Given the description of an element on the screen output the (x, y) to click on. 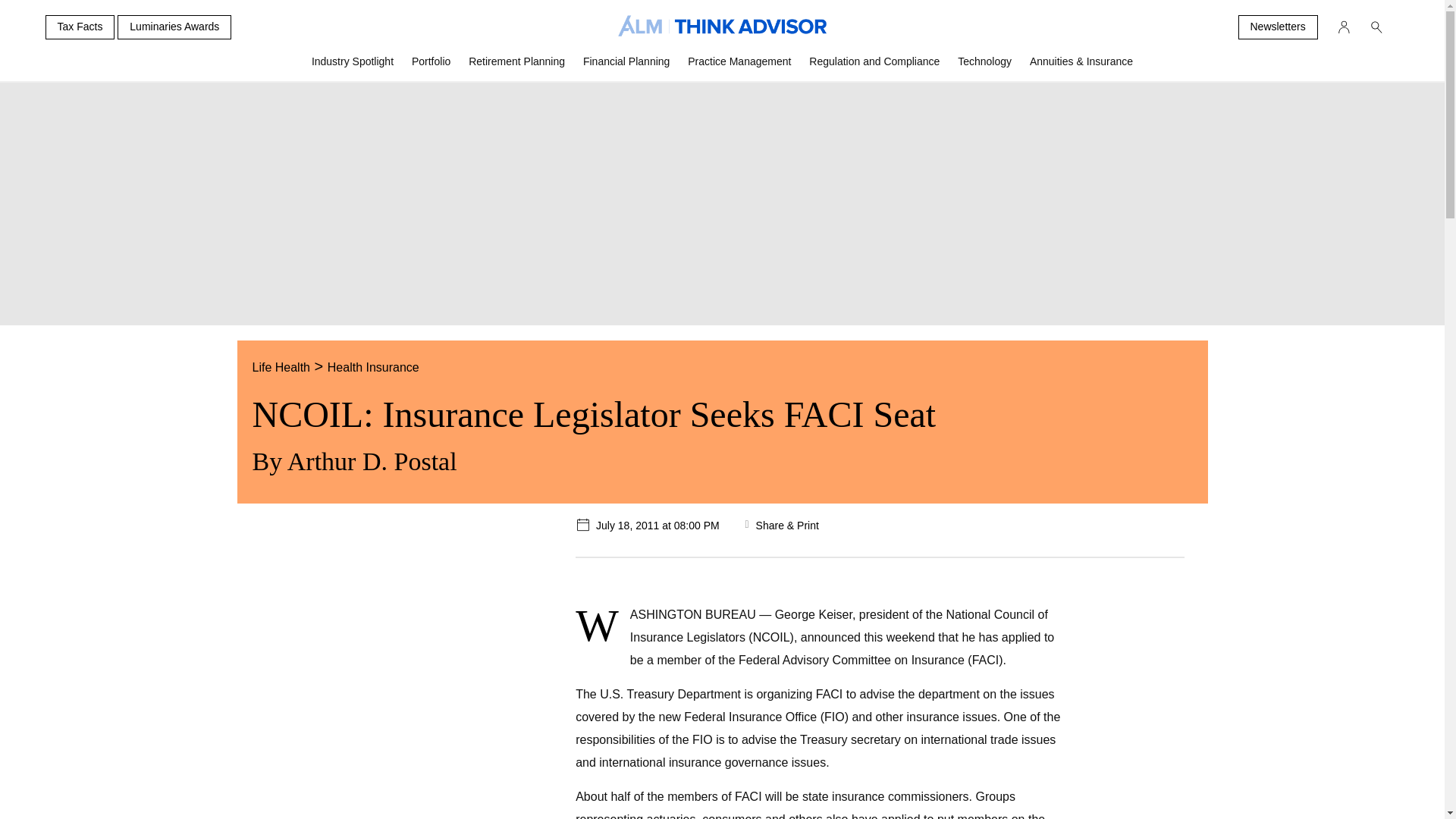
Tax Facts (80, 27)
Industry Spotlight (352, 67)
Newsletters (1277, 27)
Luminaries Awards (174, 27)
